Given the description of an element on the screen output the (x, y) to click on. 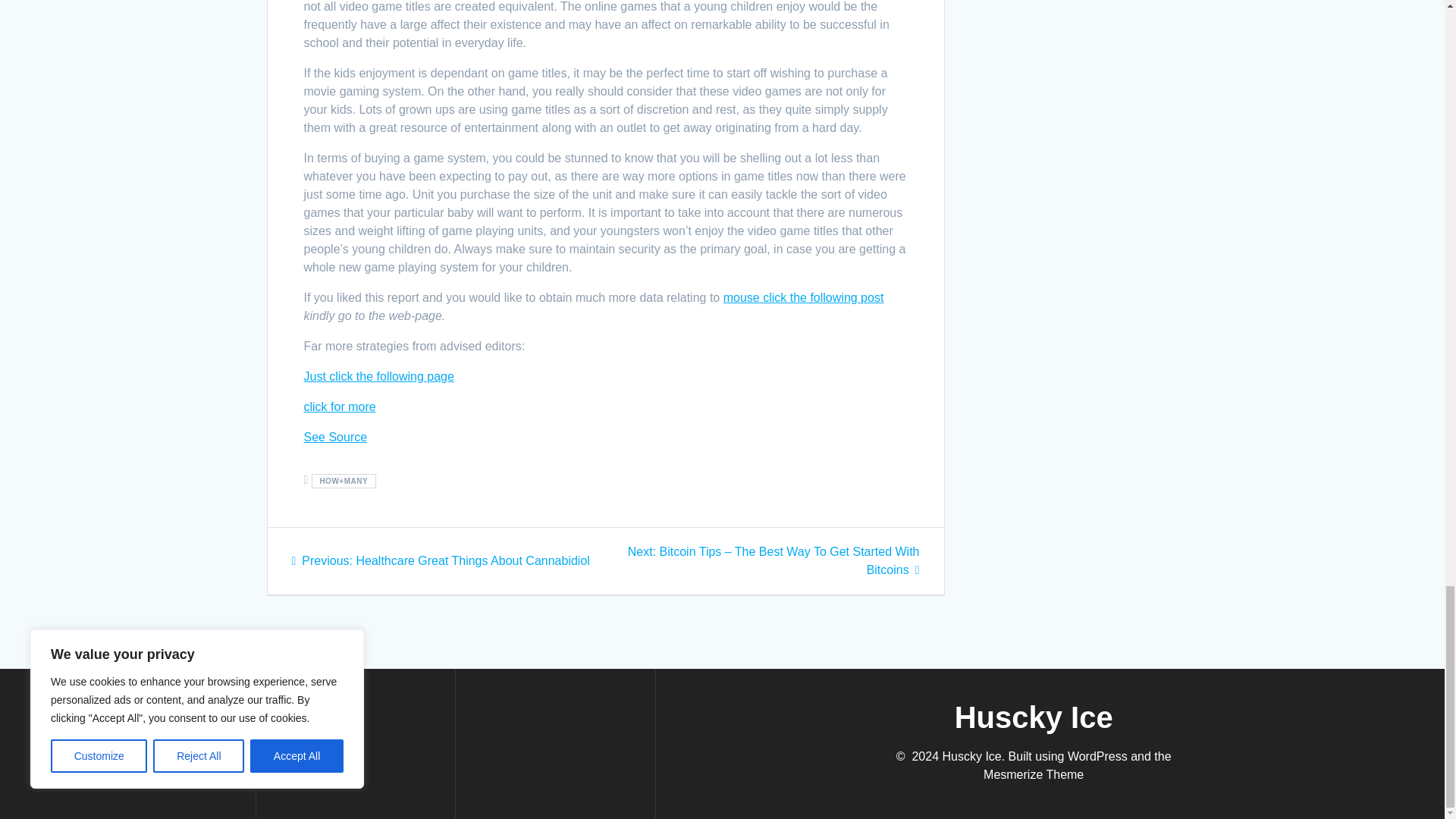
Just click the following page (377, 376)
mouse click the following post (803, 297)
click for more (338, 406)
See Source (334, 436)
